Given the description of an element on the screen output the (x, y) to click on. 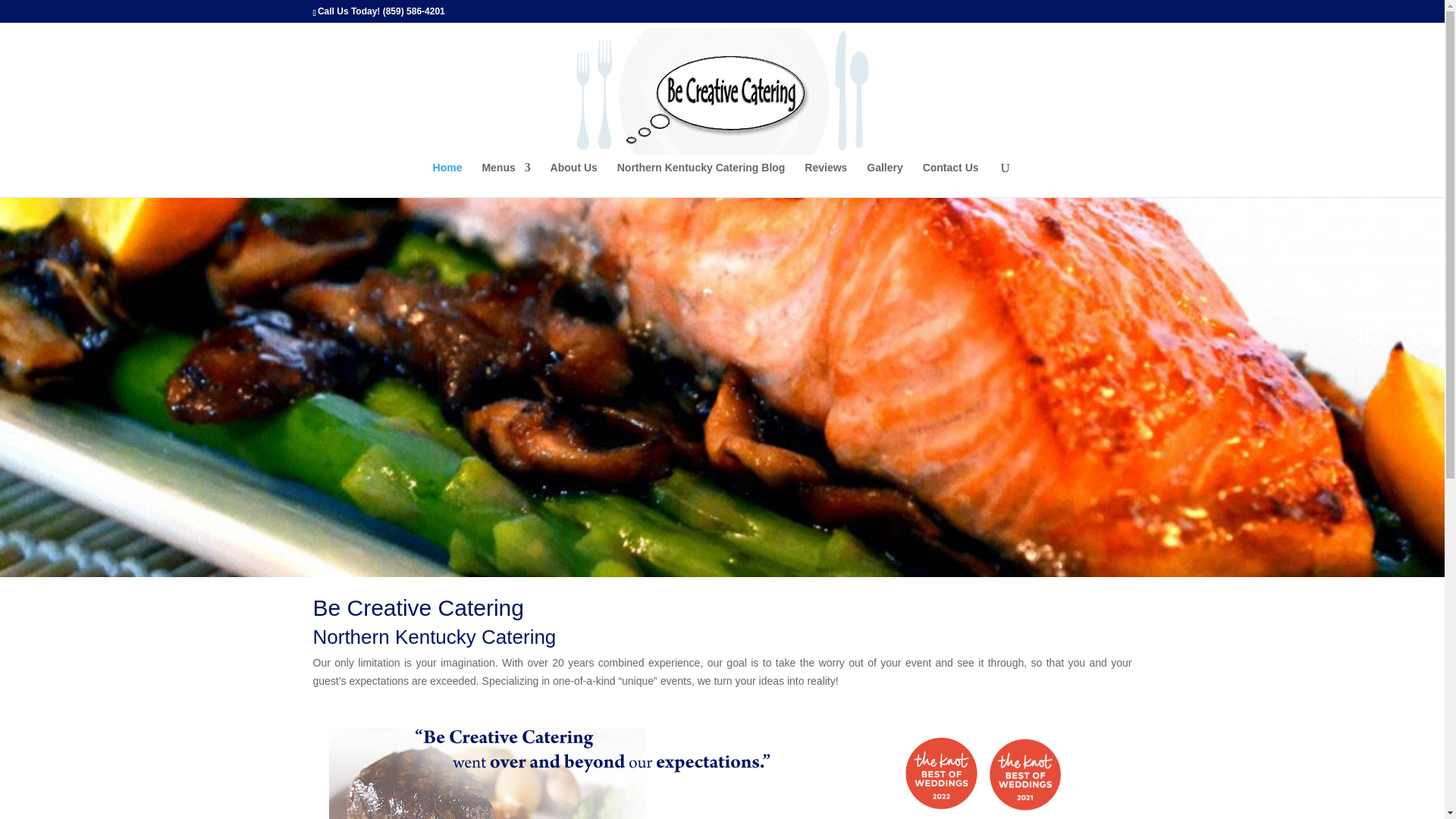
Gallery (884, 179)
About Us (573, 179)
Contact Us (950, 179)
Reviews (826, 179)
Northern Kentucky Catering Blog (701, 179)
Menus (505, 179)
